Given the description of an element on the screen output the (x, y) to click on. 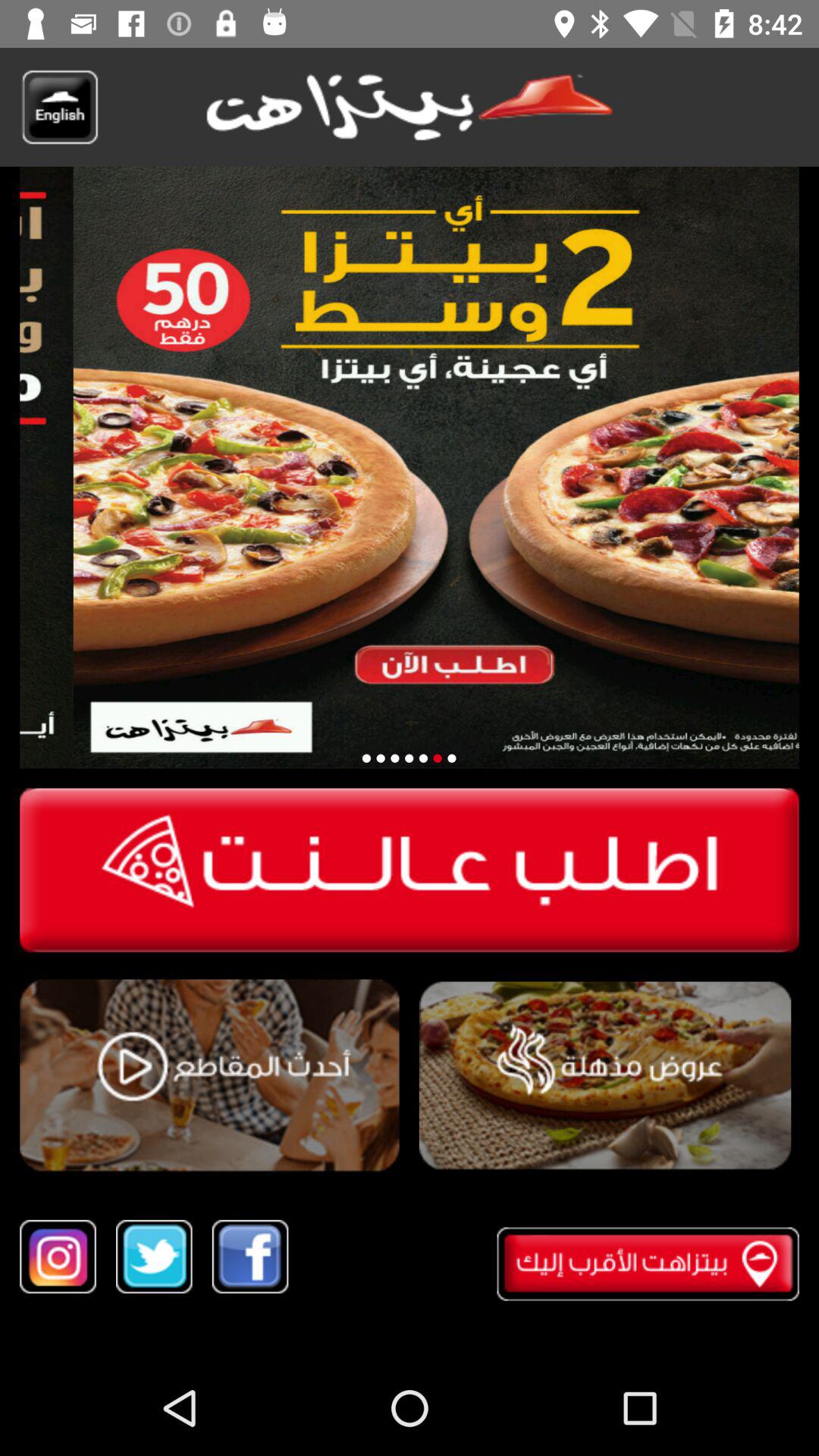
to translate english (58, 106)
